Given the description of an element on the screen output the (x, y) to click on. 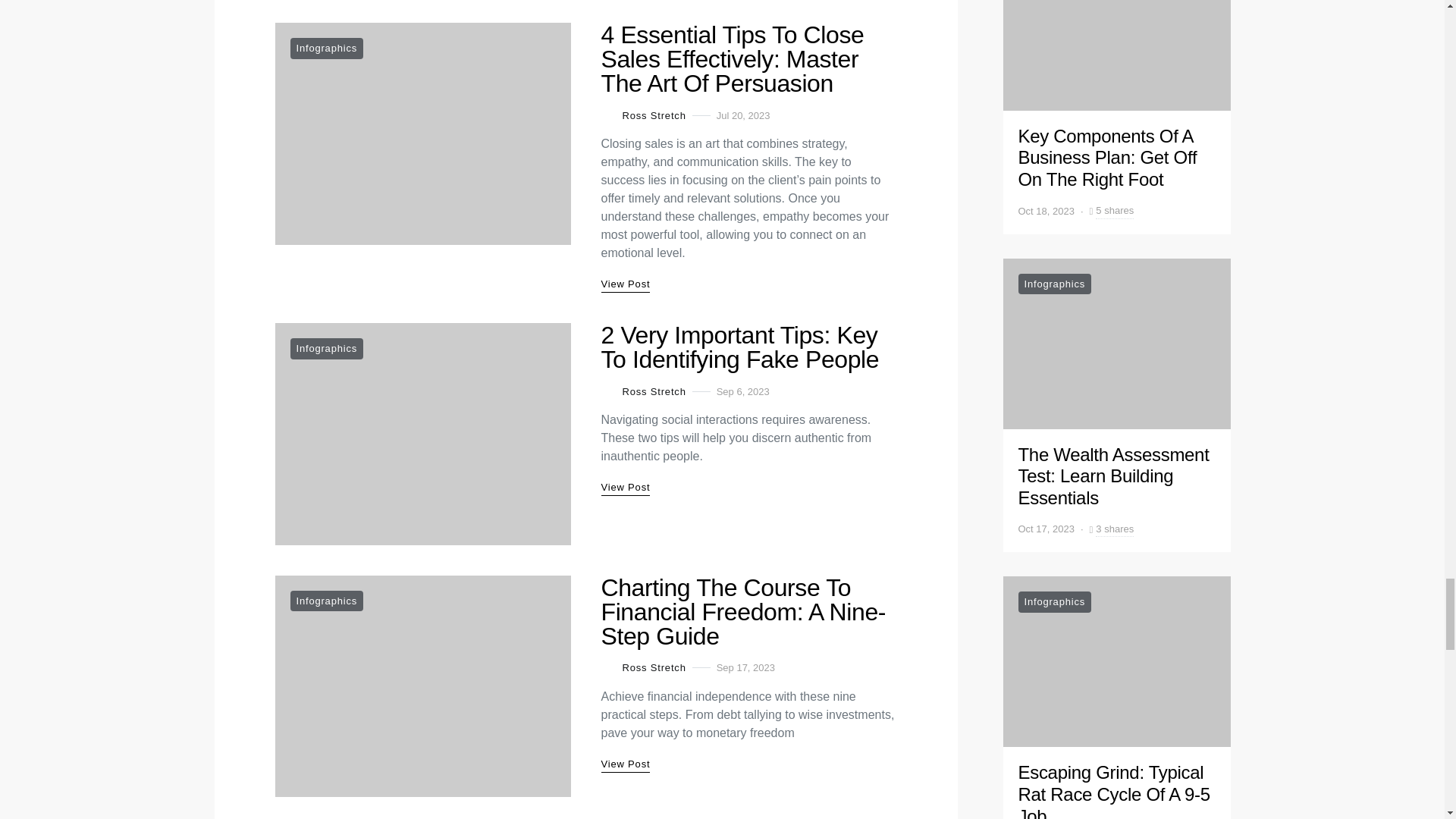
View all posts by Ross Stretch (642, 391)
View all posts by Ross Stretch (642, 667)
View all posts by Ross Stretch (642, 114)
